Given the description of an element on the screen output the (x, y) to click on. 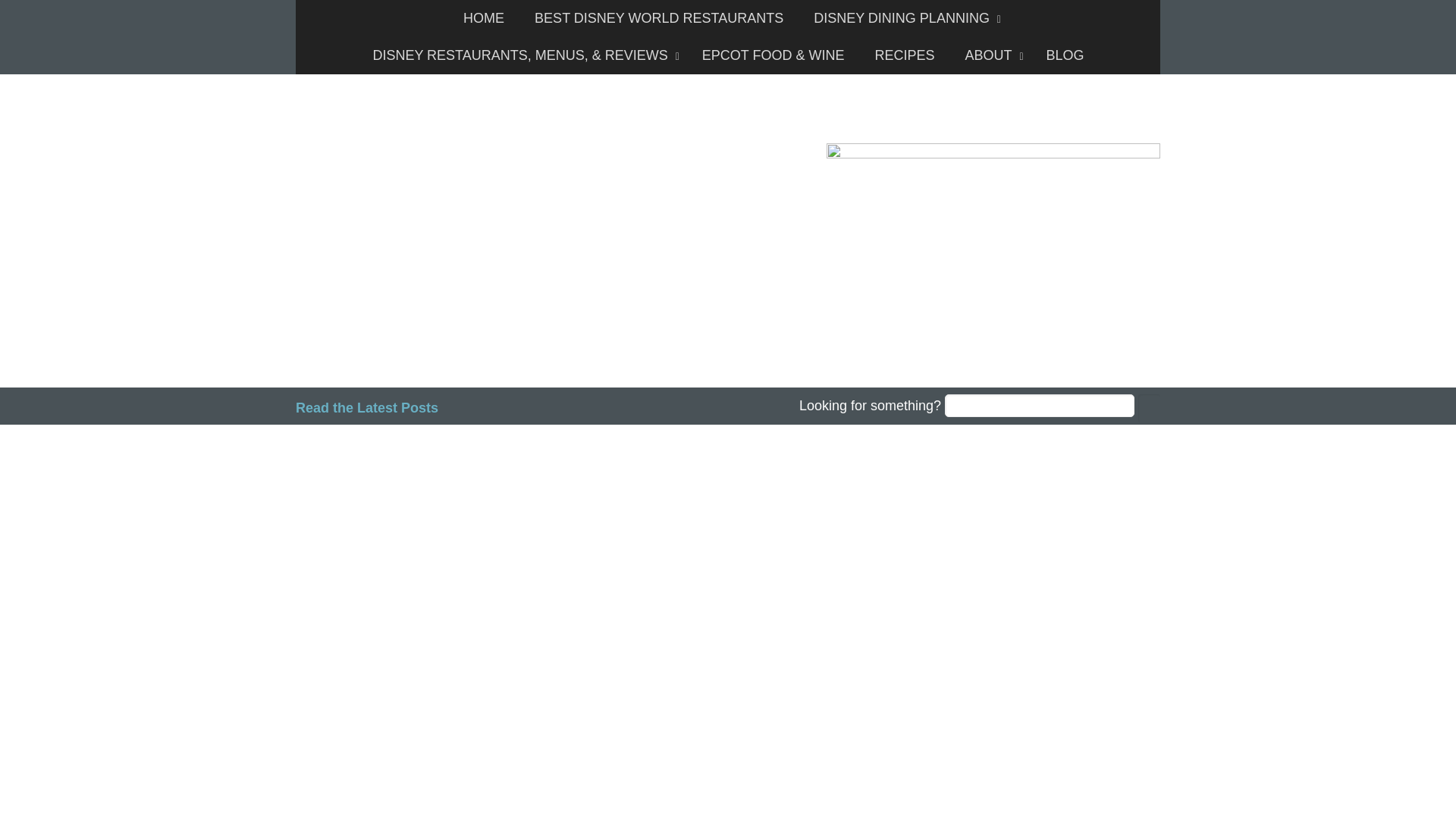
HOME (483, 18)
DISNEY DINING PLANNING (903, 18)
BEST DISNEY WORLD RESTAURANTS (658, 18)
